Given the description of an element on the screen output the (x, y) to click on. 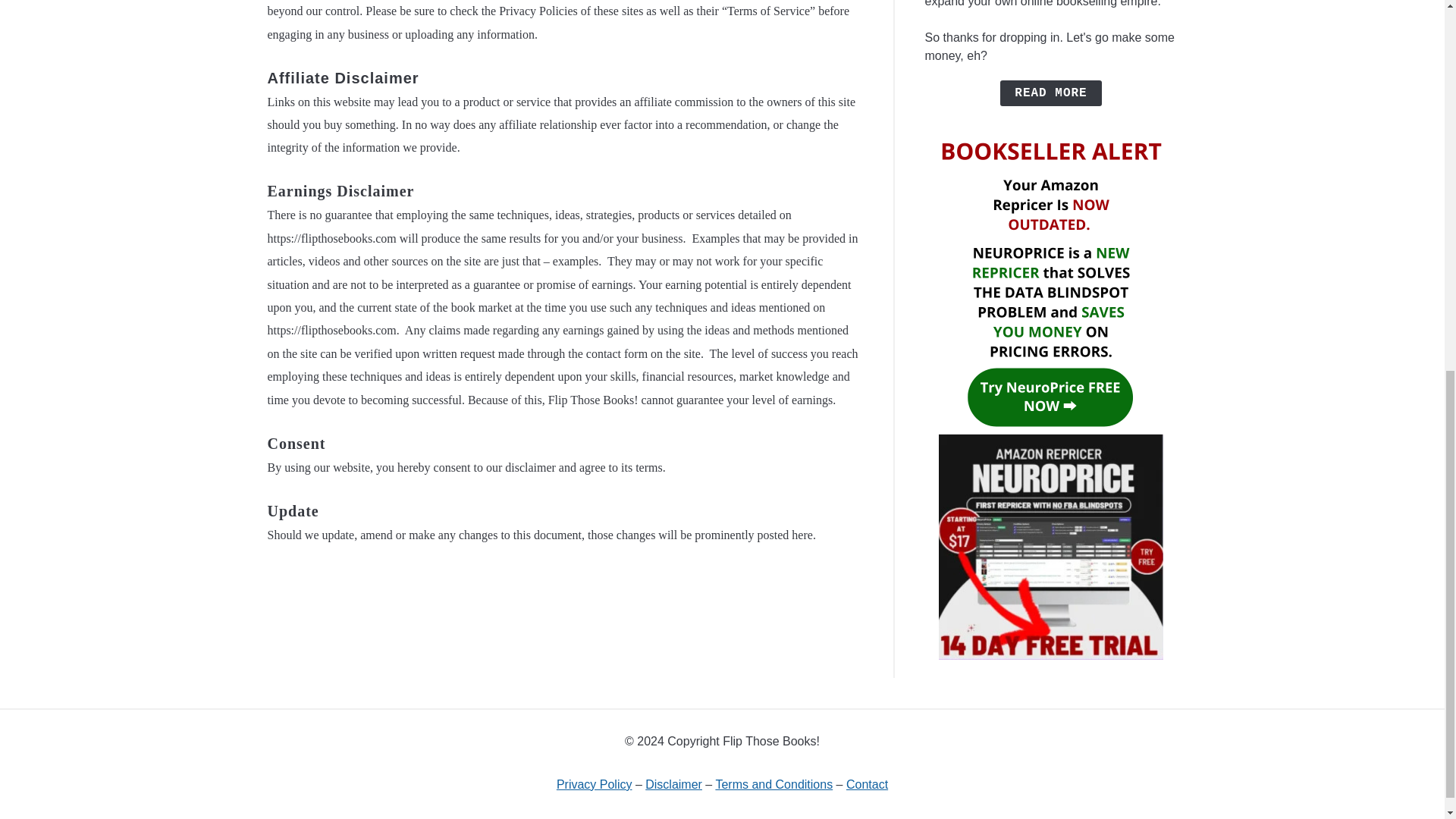
Contact (866, 784)
Bookseller Alert Sidebar (1051, 649)
Privacy Policy (593, 784)
Terms and Conditions (773, 784)
READ MORE (1050, 93)
Disclaimer (673, 784)
